Given the description of an element on the screen output the (x, y) to click on. 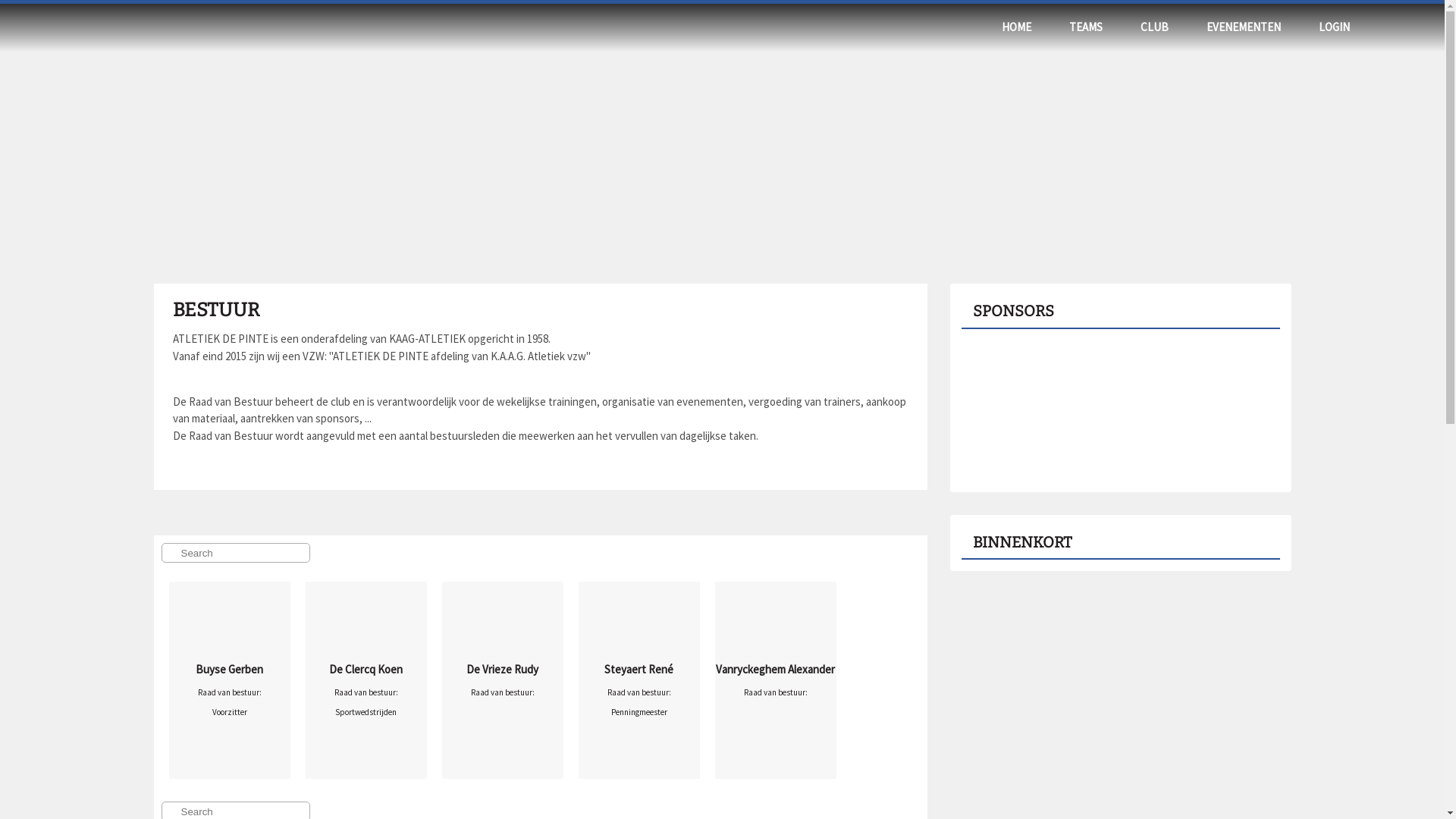
EVENEMENTEN Element type: text (1243, 27)
BESTUUR Element type: text (215, 309)
HOME Element type: text (1016, 27)
LOGIN Element type: text (1333, 27)
